Given the description of an element on the screen output the (x, y) to click on. 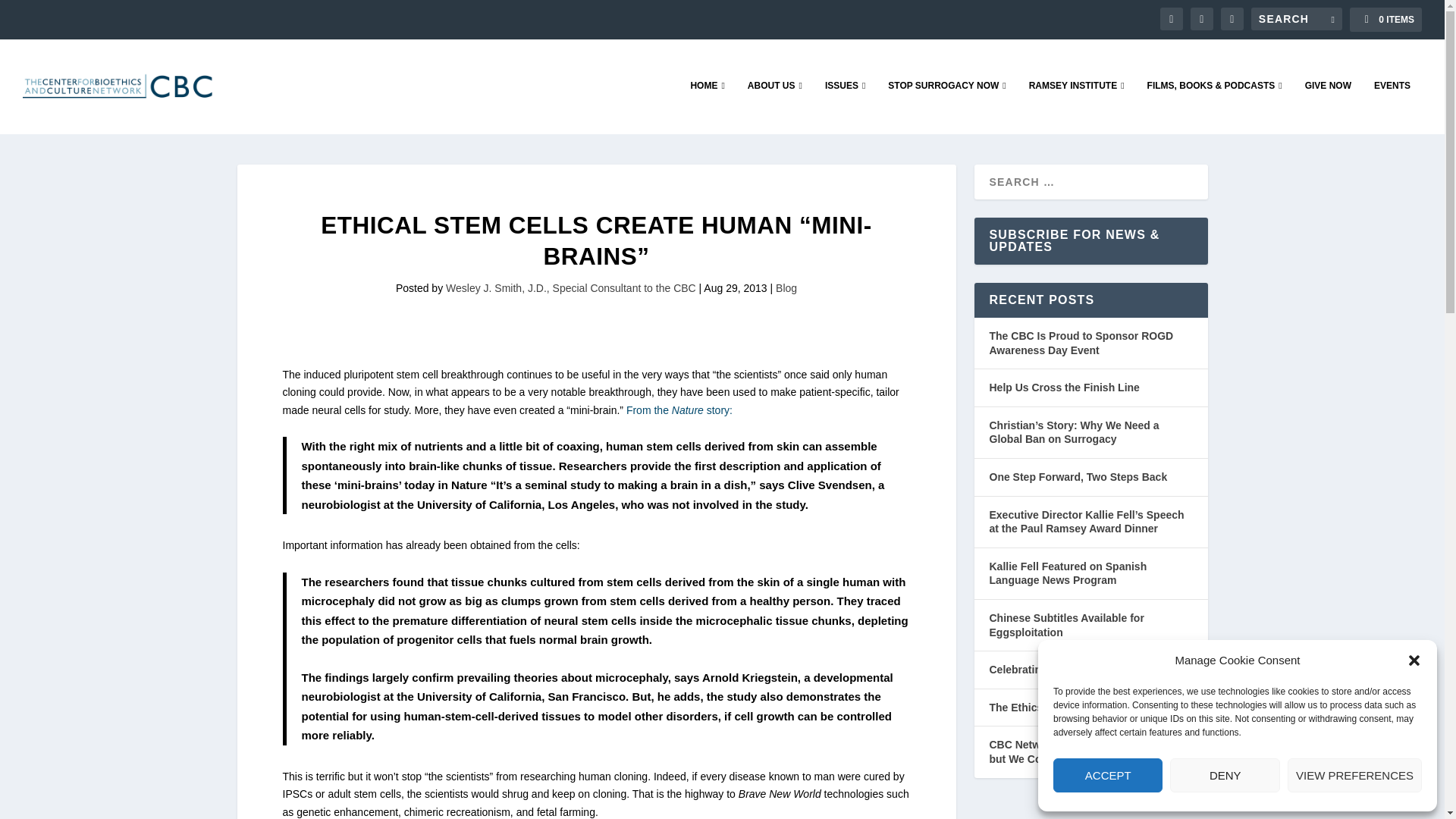
0 ITEMS (1385, 19)
VIEW PREFERENCES (1354, 775)
DENY (1224, 775)
Search for: (1296, 18)
ABOUT US (775, 106)
0 Items in Cart (1385, 19)
ACCEPT (1106, 775)
